Given the description of an element on the screen output the (x, y) to click on. 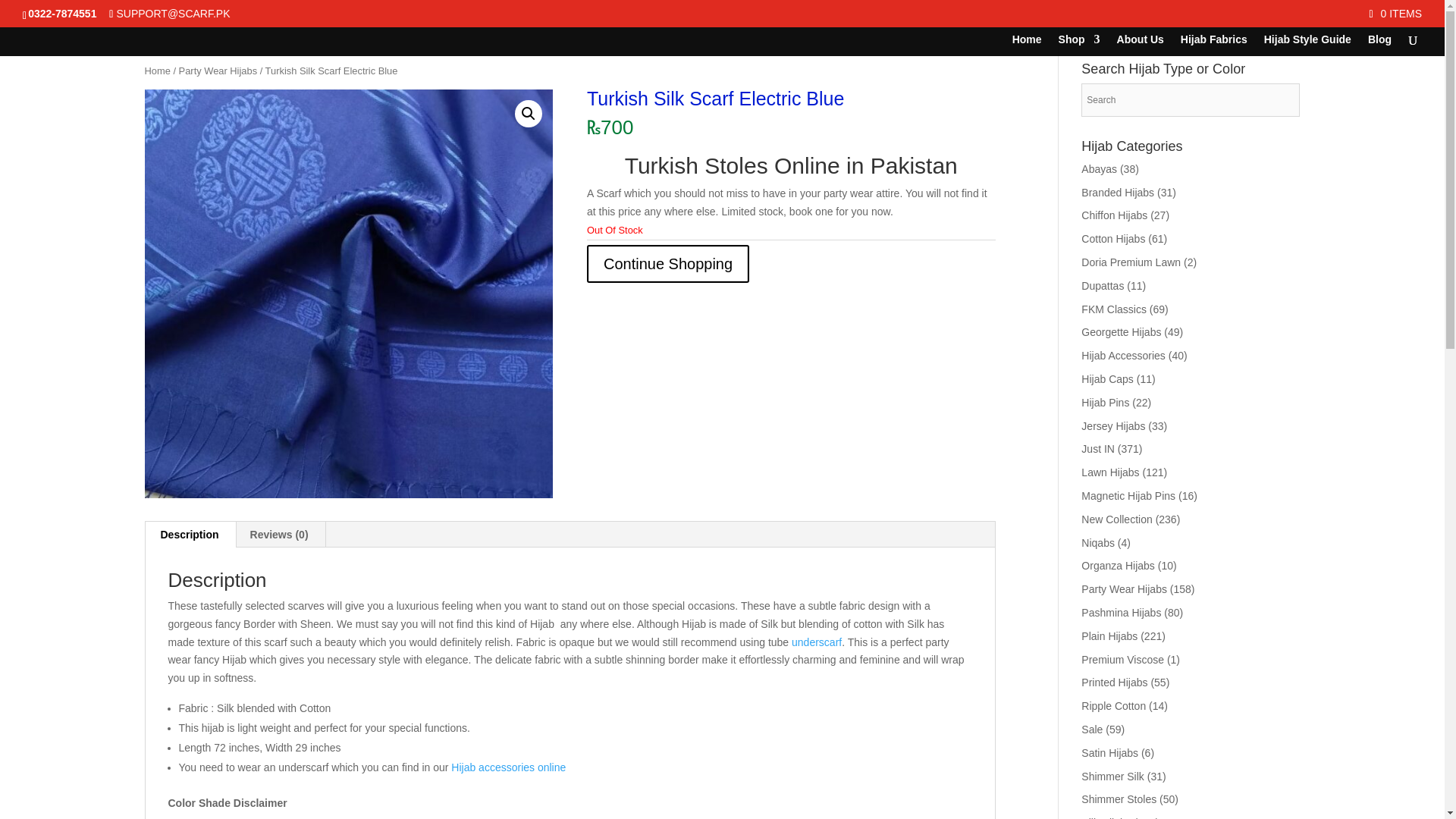
Shop (1079, 45)
Hijab Fabrics (1213, 45)
Home (1026, 45)
Hijab Style Guide (1307, 45)
About Us (1139, 45)
Blog (1379, 45)
Home (157, 70)
0 ITEMS (1395, 13)
